Given the description of an element on the screen output the (x, y) to click on. 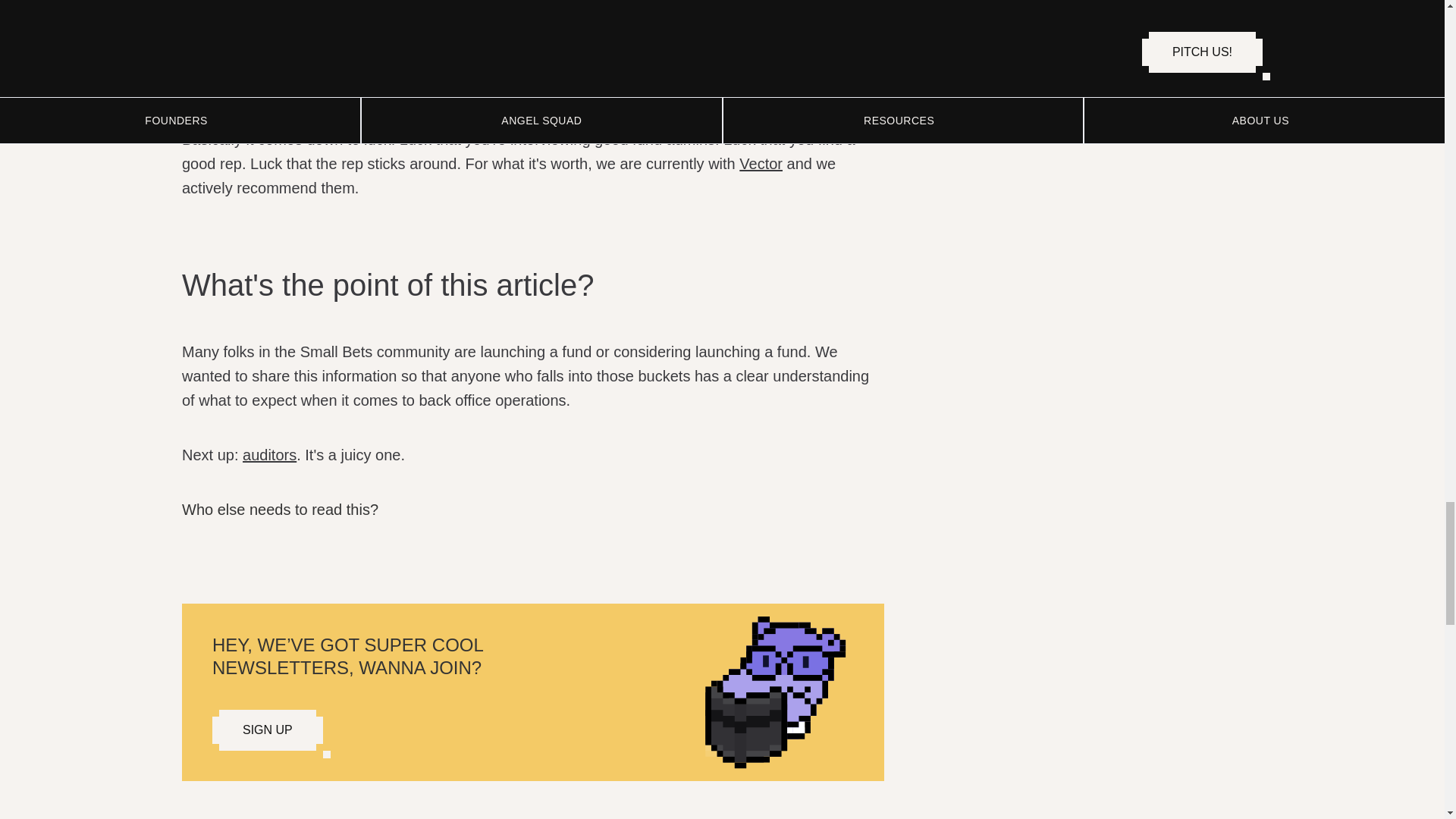
SIGN UP (267, 730)
auditors (270, 454)
Vector (761, 163)
